Given the description of an element on the screen output the (x, y) to click on. 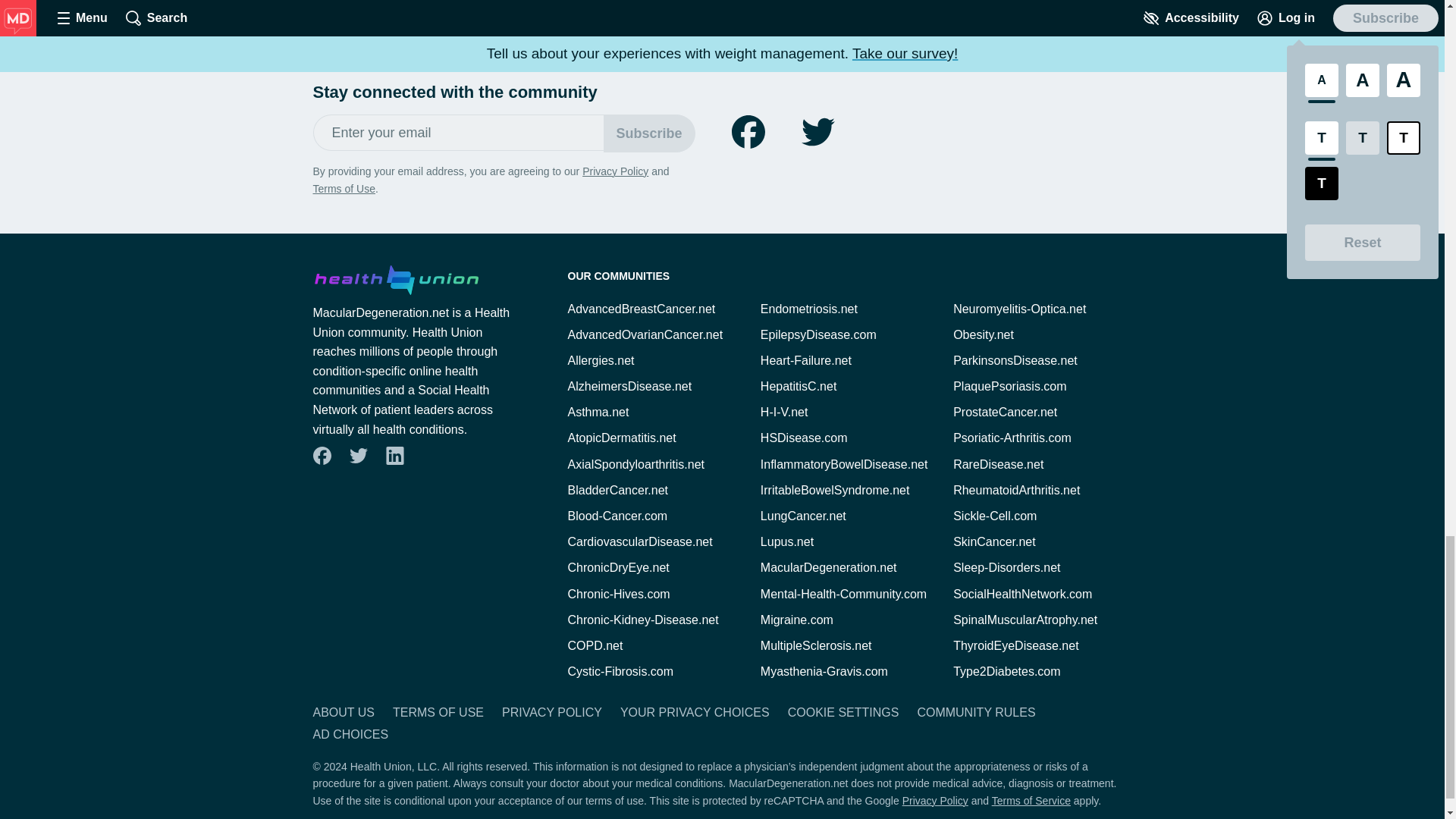
Follow us on facebook (747, 131)
Follow us on facebook (321, 455)
Follow us on twitter (817, 131)
Follow us on twitter (357, 455)
